Given the description of an element on the screen output the (x, y) to click on. 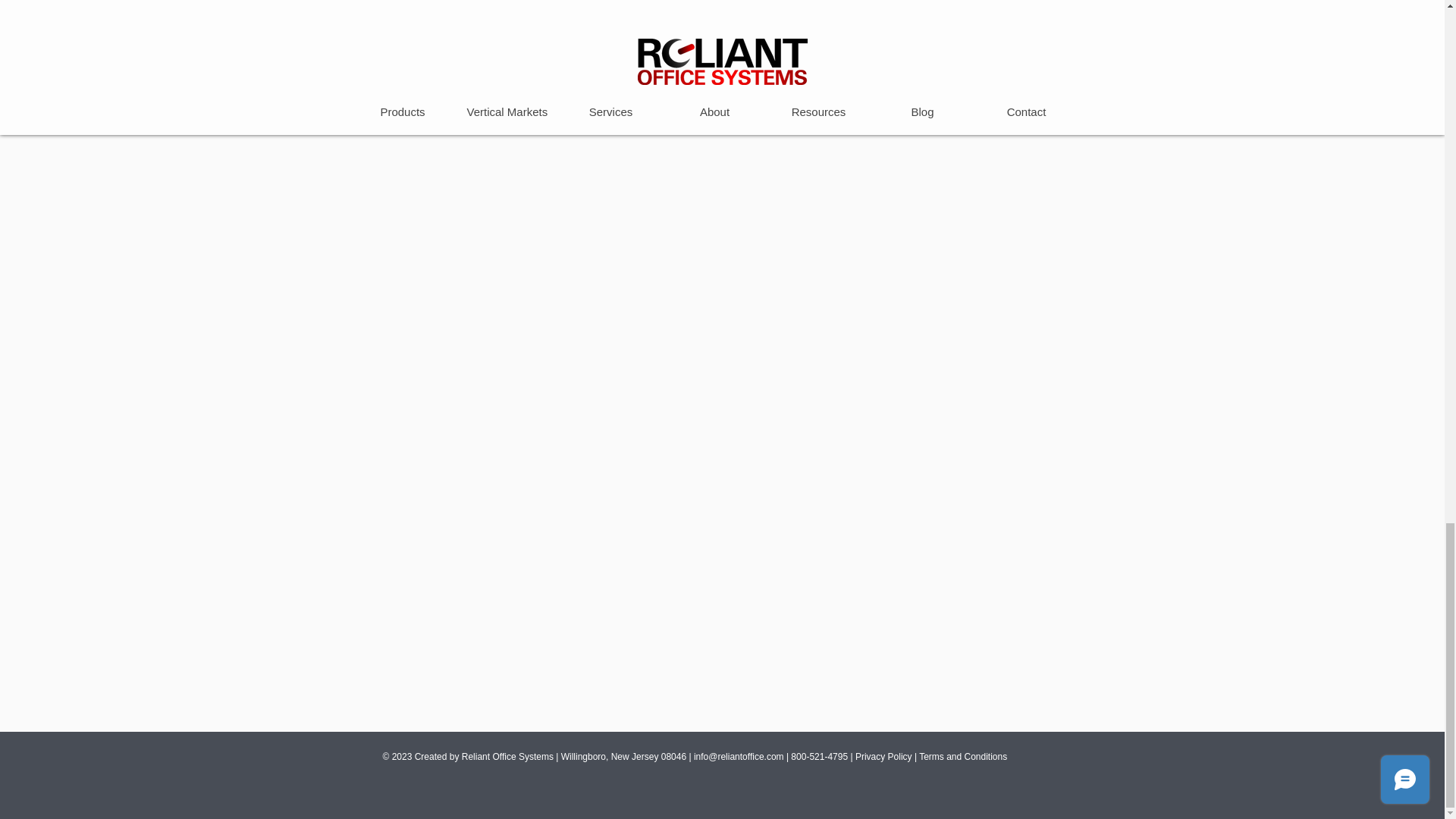
800-521-4795 (818, 756)
Privacy Policy (885, 756)
Terms and Conditions (962, 756)
